Given the description of an element on the screen output the (x, y) to click on. 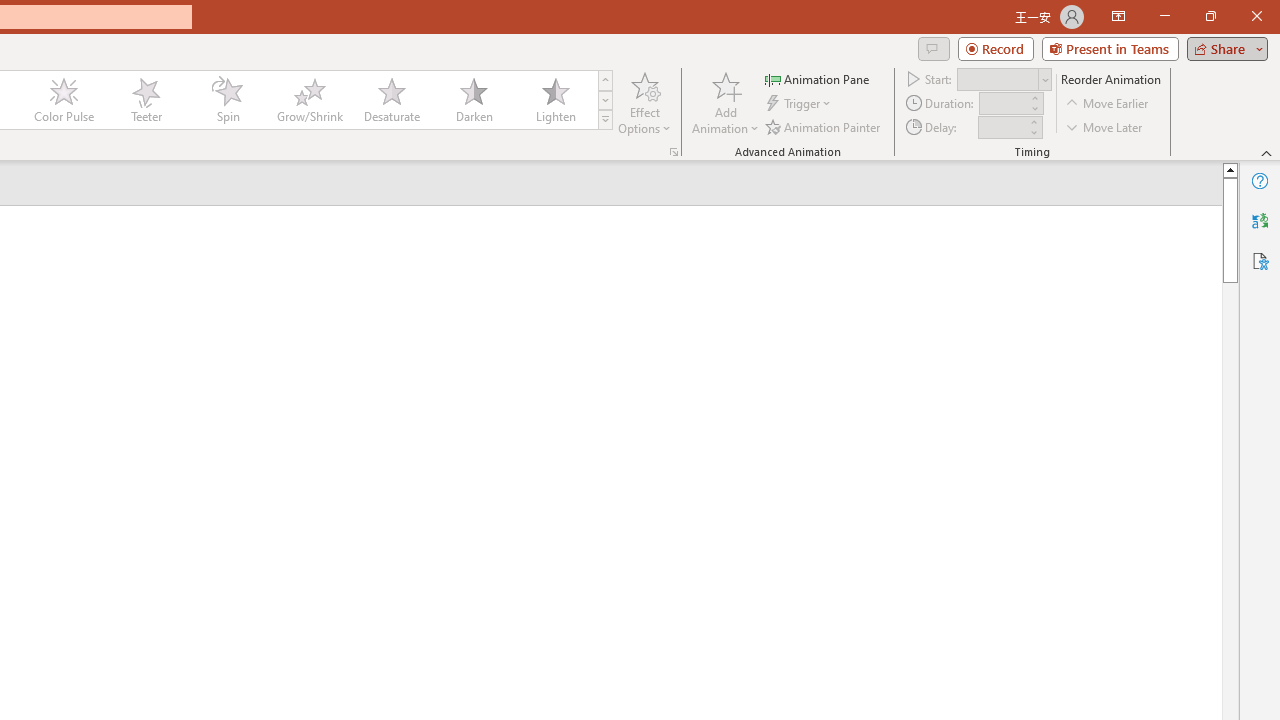
Teeter (145, 100)
Animation Pane (818, 78)
Move Later (1105, 126)
Animation Duration (1003, 103)
